Given the description of an element on the screen output the (x, y) to click on. 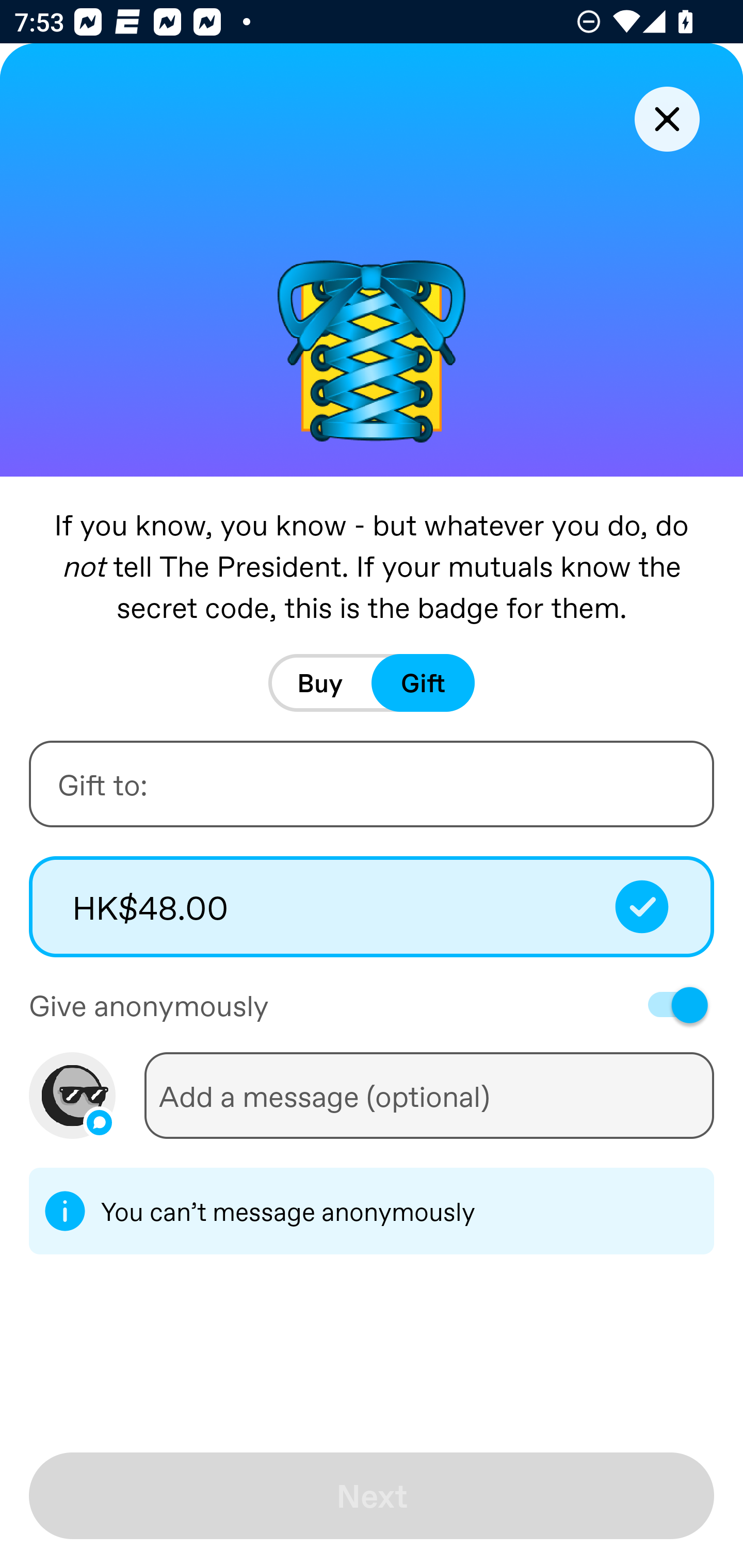
Buy (319, 682)
Gift (423, 682)
Gift to: (371, 783)
Add a message (optional) (429, 1095)
Next (371, 1495)
